Given the description of an element on the screen output the (x, y) to click on. 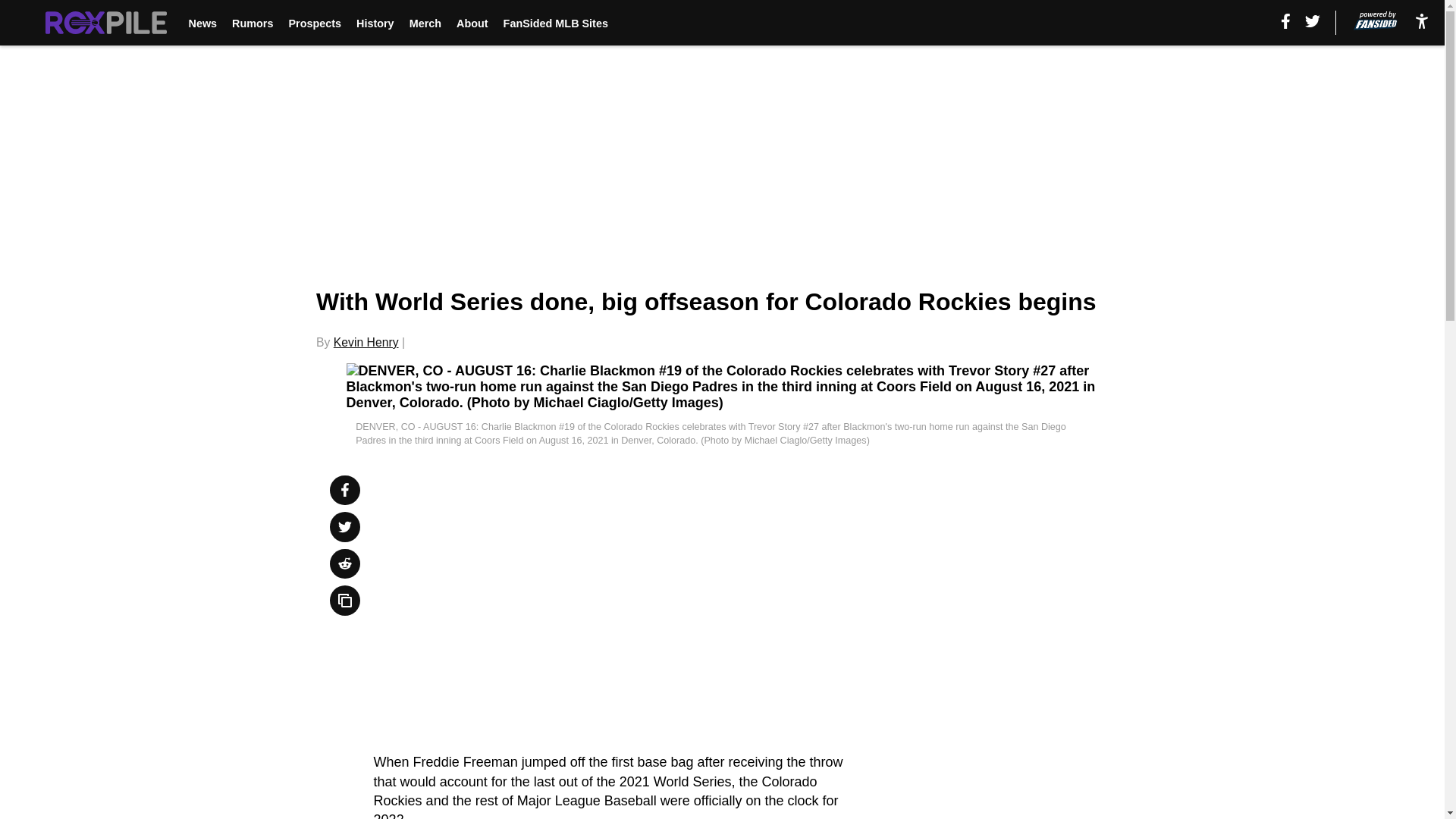
About (472, 23)
Merch (425, 23)
Rumors (252, 23)
History (375, 23)
FanSided MLB Sites (555, 23)
Kevin Henry (365, 341)
Prospects (314, 23)
News (201, 23)
